Given the description of an element on the screen output the (x, y) to click on. 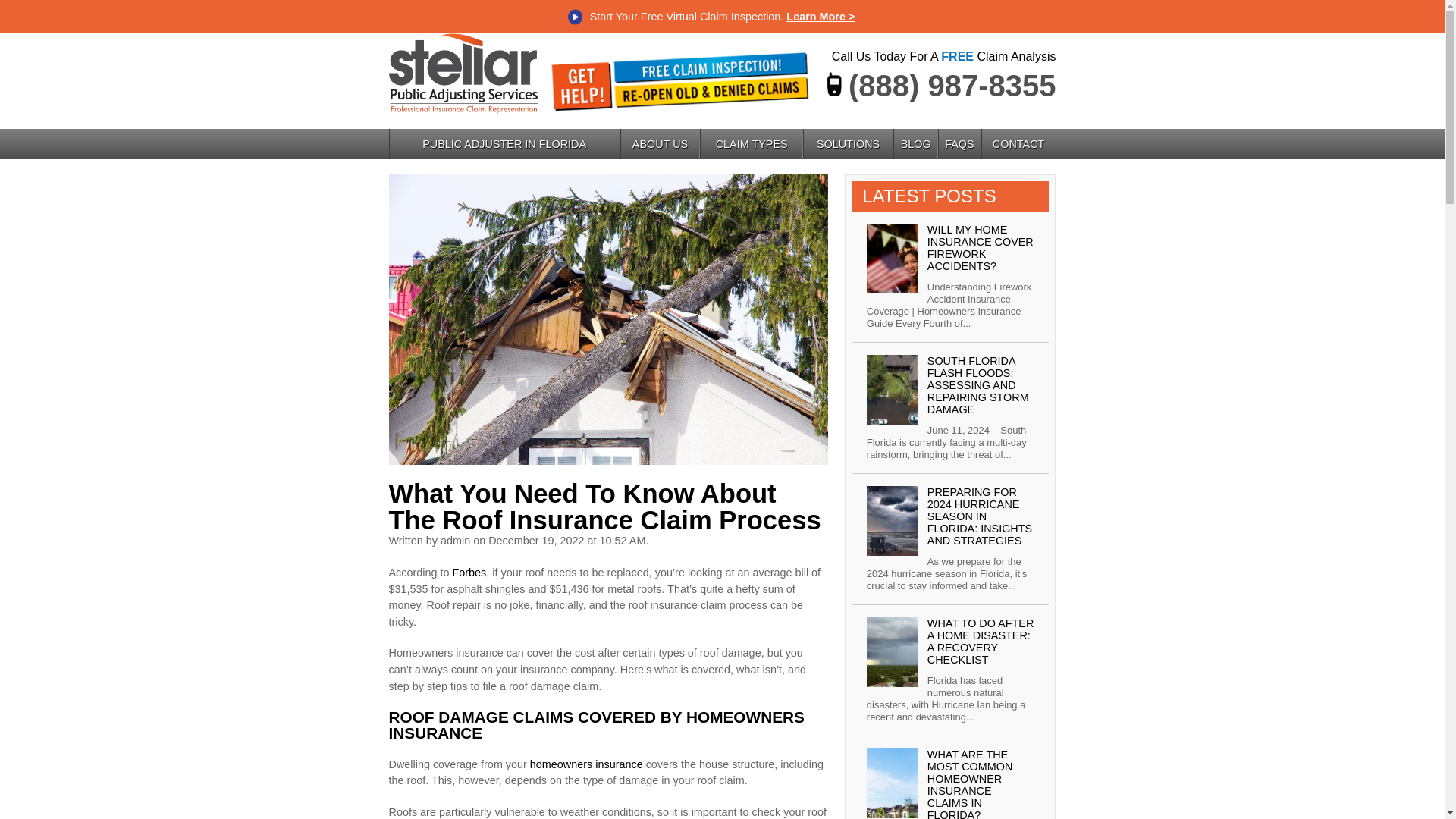
ABOUT US (824, 179)
BLOG (1145, 179)
SOLUTIONS (1060, 179)
PUBLIC ADJUSTER IN FLORIDA (630, 179)
FAQS (1199, 179)
CLAIM TYPES (939, 179)
CONTACT (1273, 179)
